Given the description of an element on the screen output the (x, y) to click on. 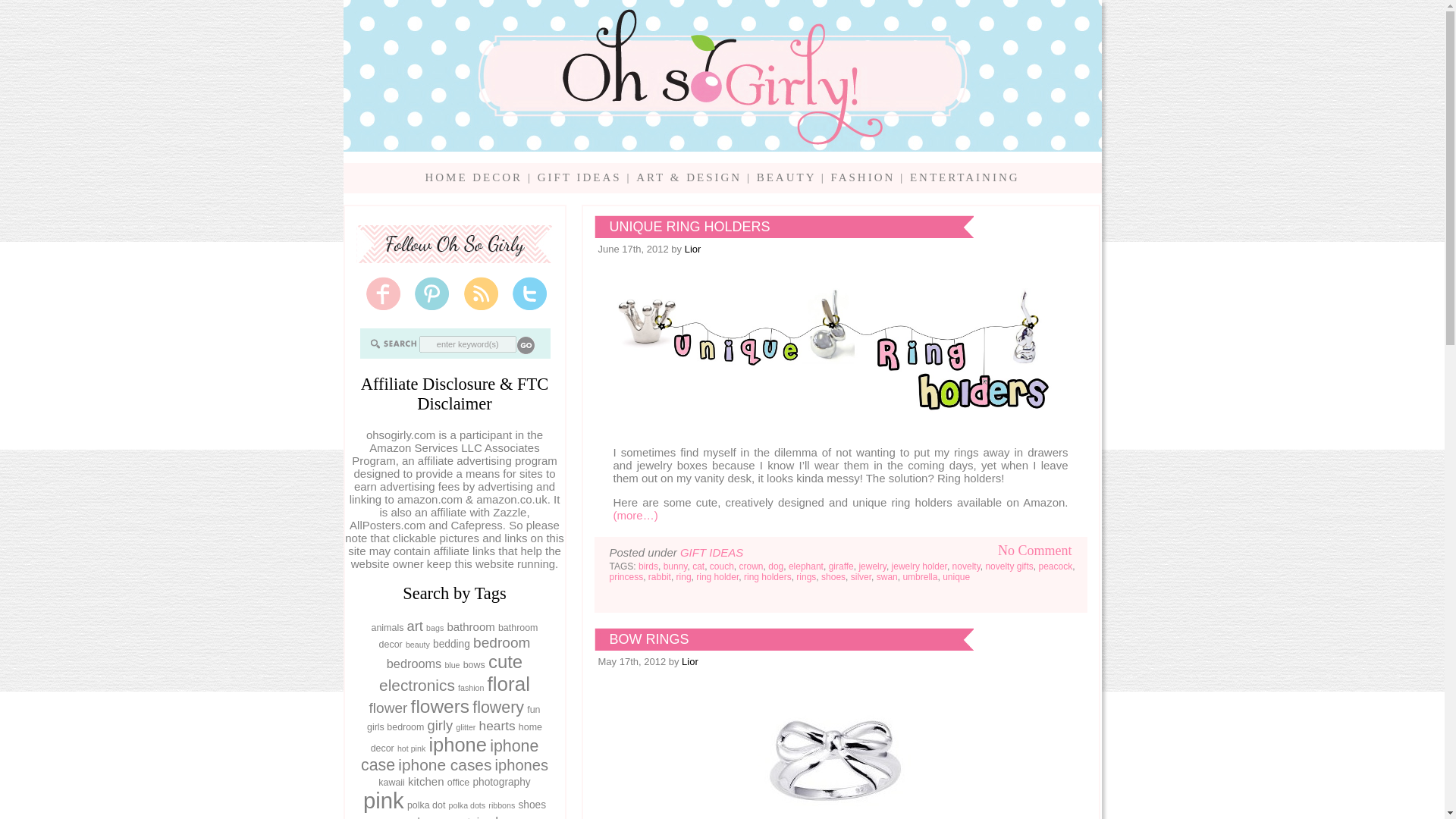
iphones (521, 764)
blue (452, 664)
BEAUTY (786, 177)
bathroom (470, 626)
fun (533, 709)
flowery (497, 707)
hot pink (411, 747)
girly (440, 725)
bows (473, 665)
FASHION (862, 177)
flower (387, 707)
electronics (416, 684)
beauty (417, 644)
animals (387, 627)
HOME DECOR (473, 177)
